Given the description of an element on the screen output the (x, y) to click on. 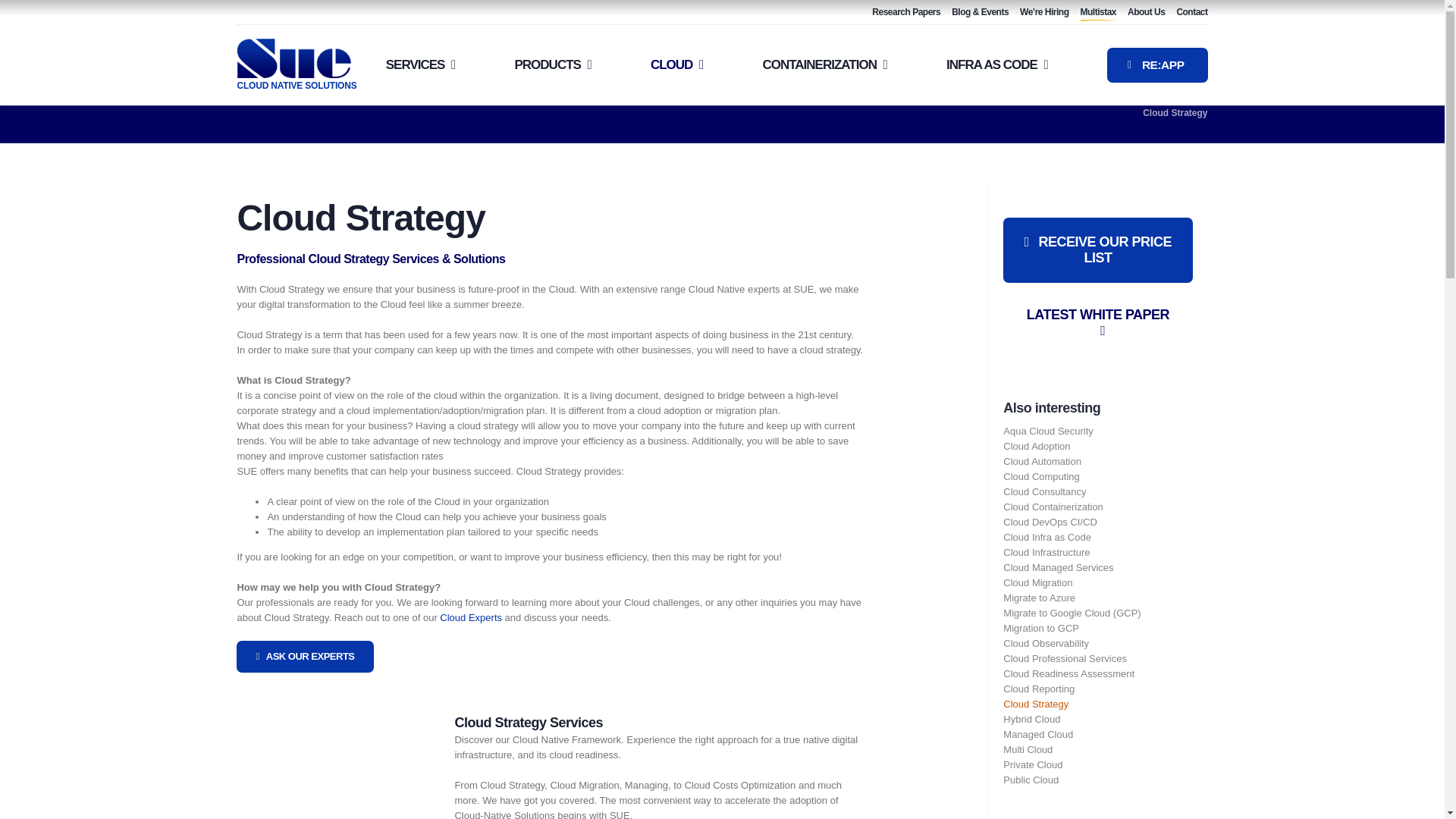
Cloud Native Solutions (295, 85)
Contact (1191, 12)
Multistax (1098, 12)
Contact us today (1191, 12)
Vacancies at SUE (1044, 12)
Research Papers (906, 12)
PRODUCTS (552, 64)
Multistax (1098, 12)
About Us (1145, 12)
Research Papers (906, 12)
